Given the description of an element on the screen output the (x, y) to click on. 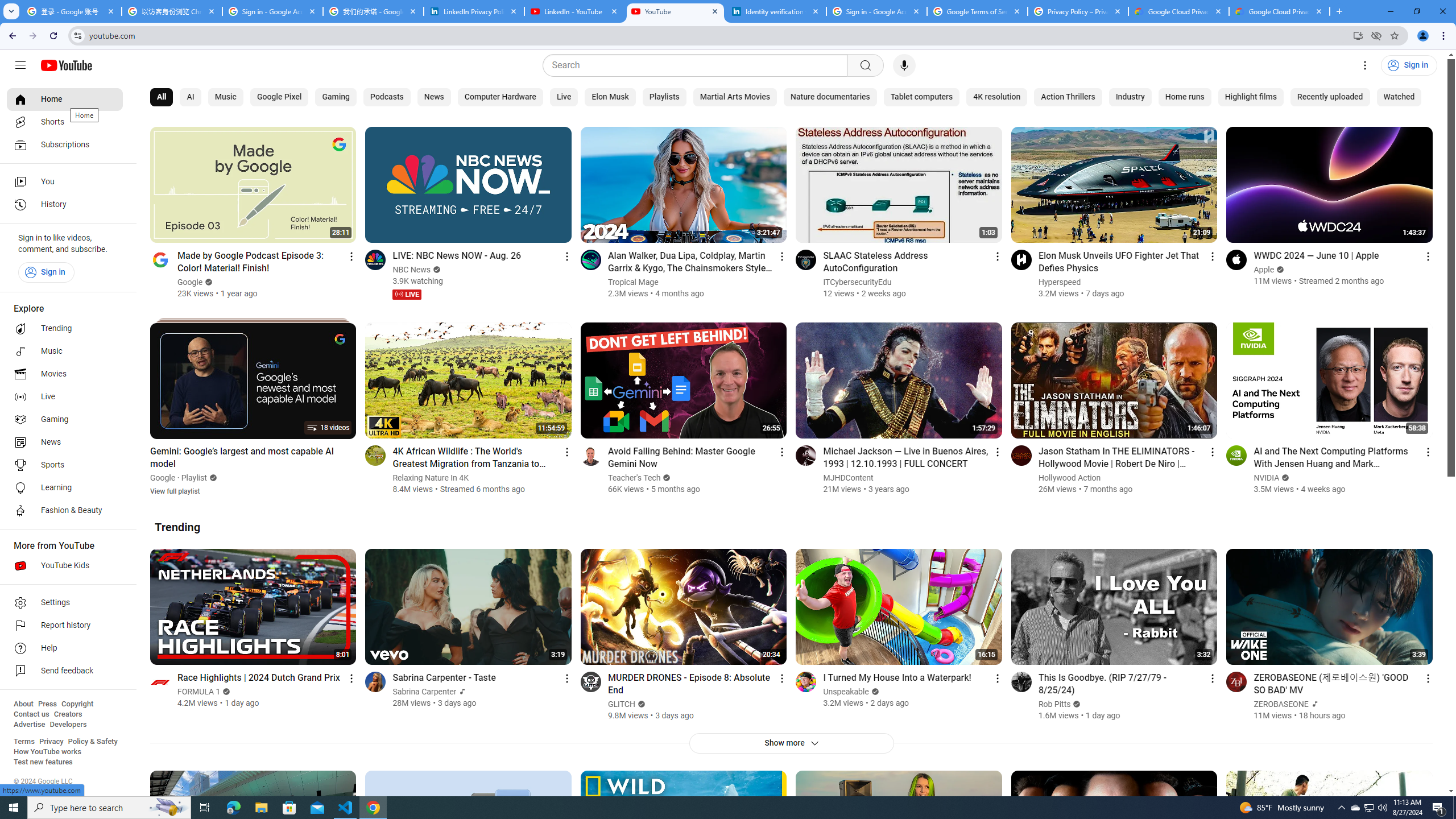
Tablet computers (921, 97)
View site information (77, 35)
Sabrina Carpenter (425, 691)
Highlight films (1250, 97)
Search (697, 65)
Test new features (42, 761)
Hollywood Action (1070, 477)
Google Pixel (278, 97)
Recently uploaded (1330, 97)
Search with your voice (903, 65)
About (23, 703)
